Given the description of an element on the screen output the (x, y) to click on. 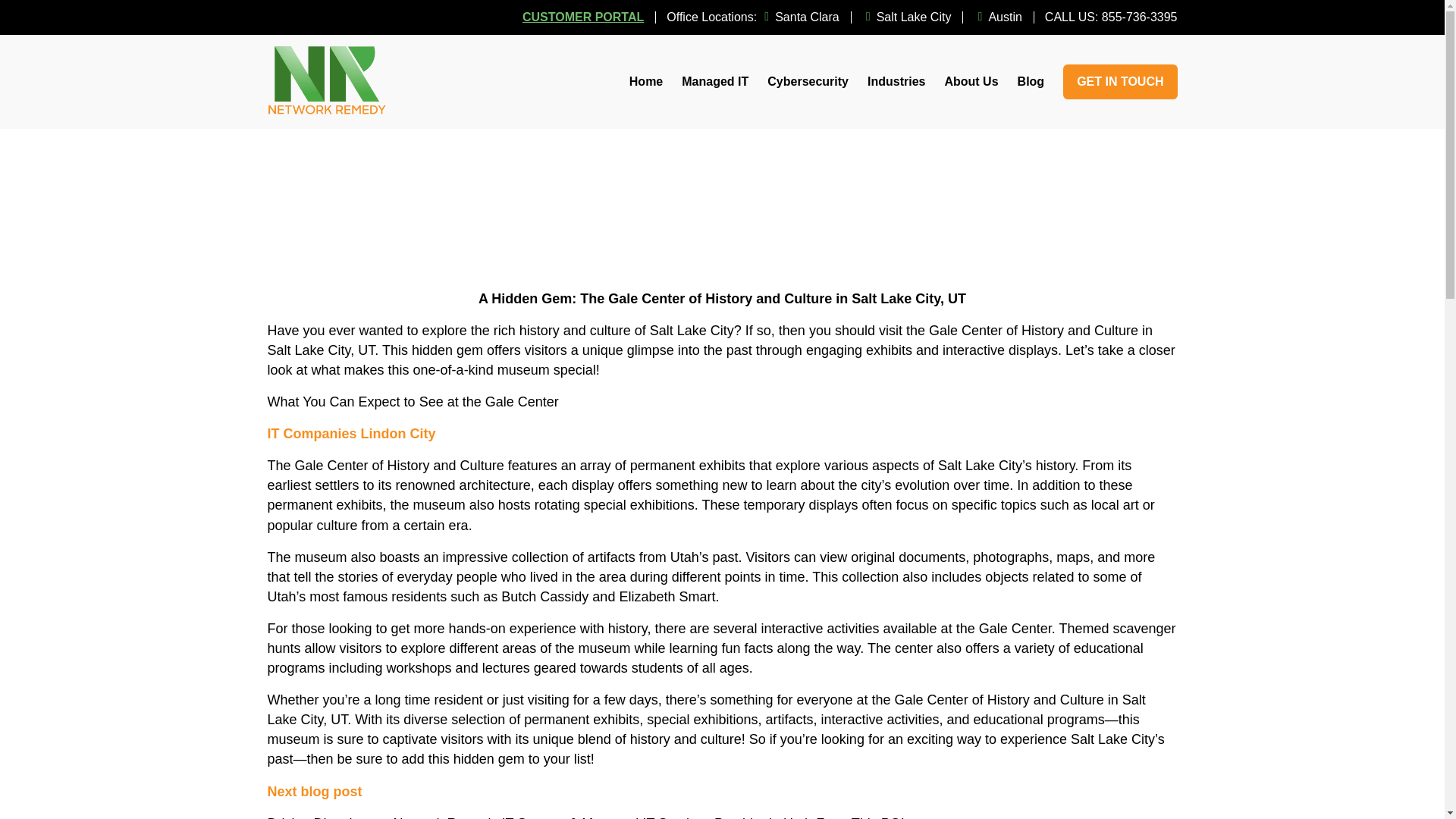
NR2021LOGO (325, 81)
CUSTOMER PORTAL (582, 16)
CALL US: 855-736-3395 (1111, 16)
About Us (970, 81)
Managed IT (714, 81)
Industries (895, 81)
Home (645, 81)
Cybersecurity (807, 81)
GET IN TOUCH (1119, 81)
